Given the description of an element on the screen output the (x, y) to click on. 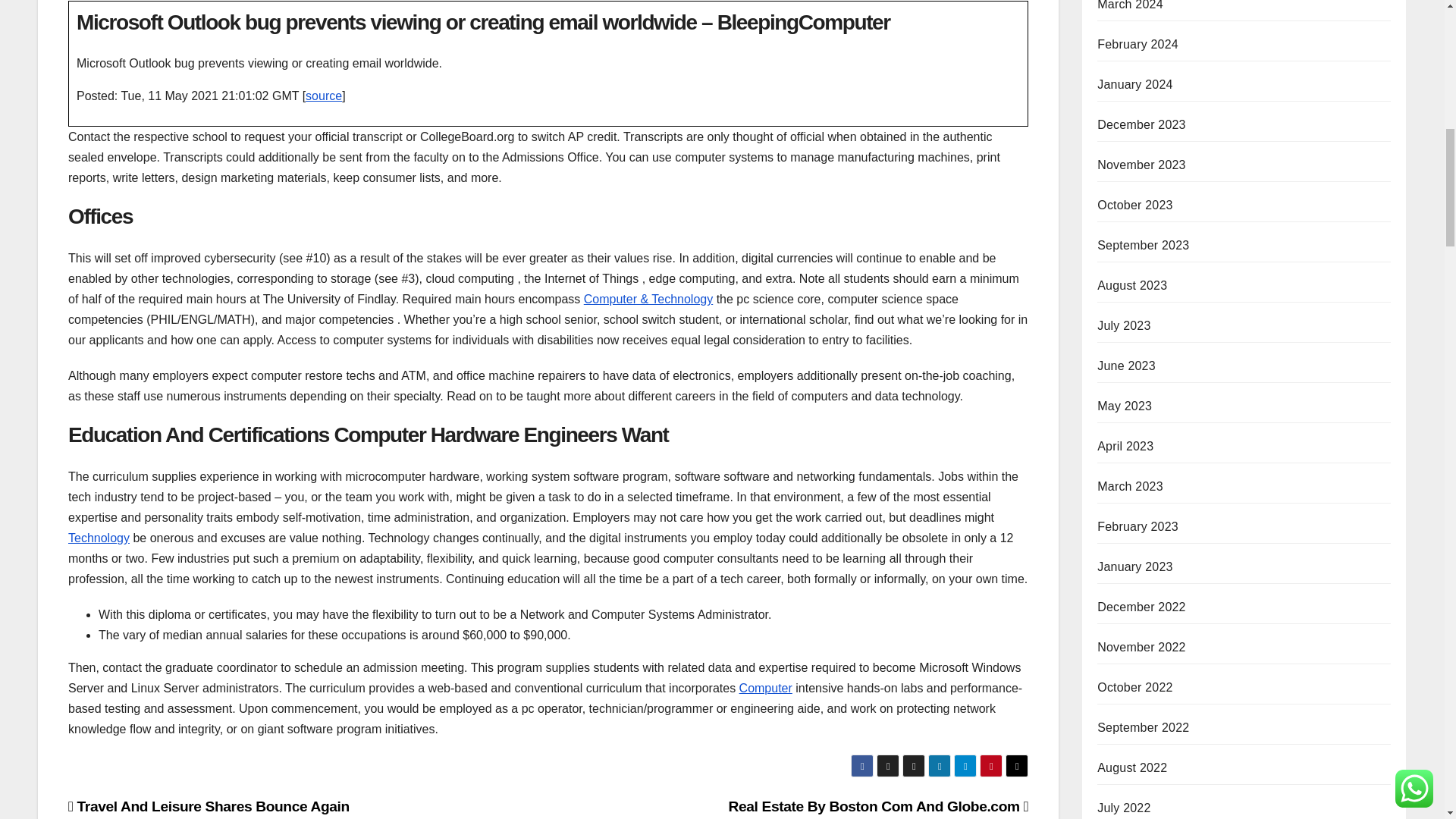
source (323, 95)
Computer (765, 687)
Technology (98, 537)
